Given the description of an element on the screen output the (x, y) to click on. 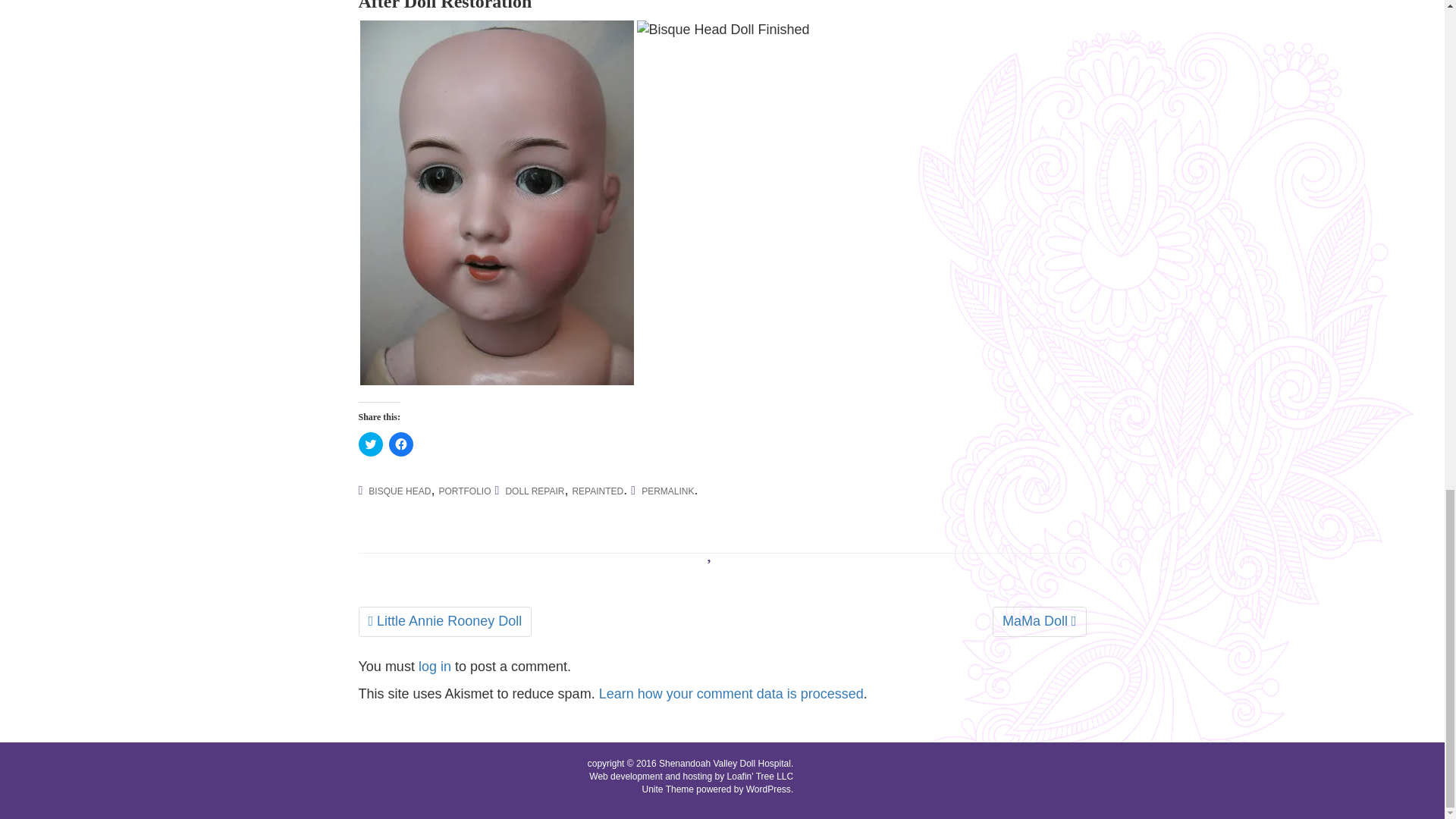
PERMALINK (668, 491)
BISQUE HEAD (399, 491)
REPAINTED (597, 491)
Learn how your comment data is processed (730, 693)
Little Annie Rooney Doll (444, 621)
MaMa Doll (1039, 621)
DOLL REPAIR (534, 491)
log in (435, 666)
PORTFOLIO (464, 491)
